Given the description of an element on the screen output the (x, y) to click on. 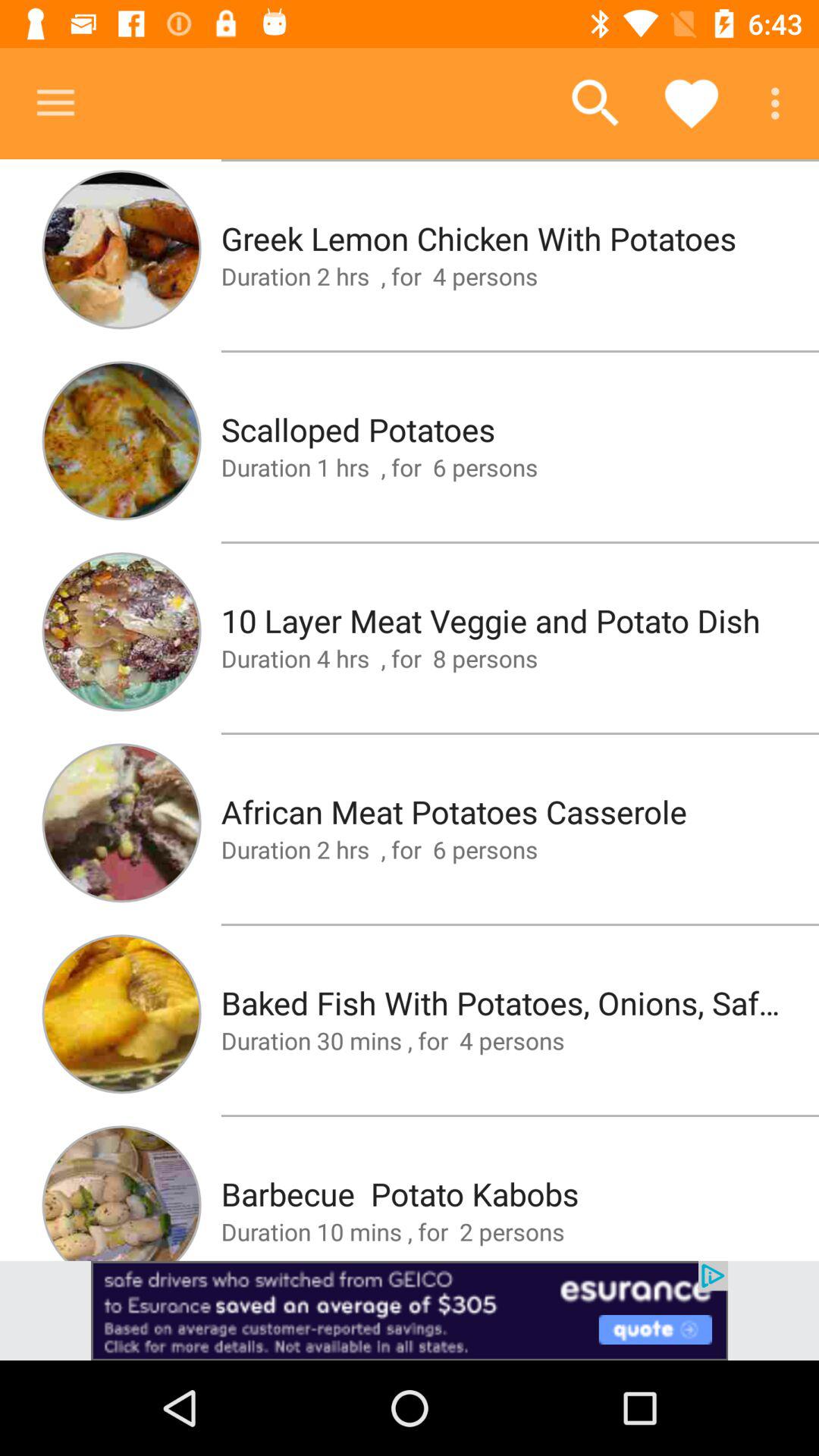
select the option search on the top of the screen which is left side to the favourite (595, 103)
